Given the description of an element on the screen output the (x, y) to click on. 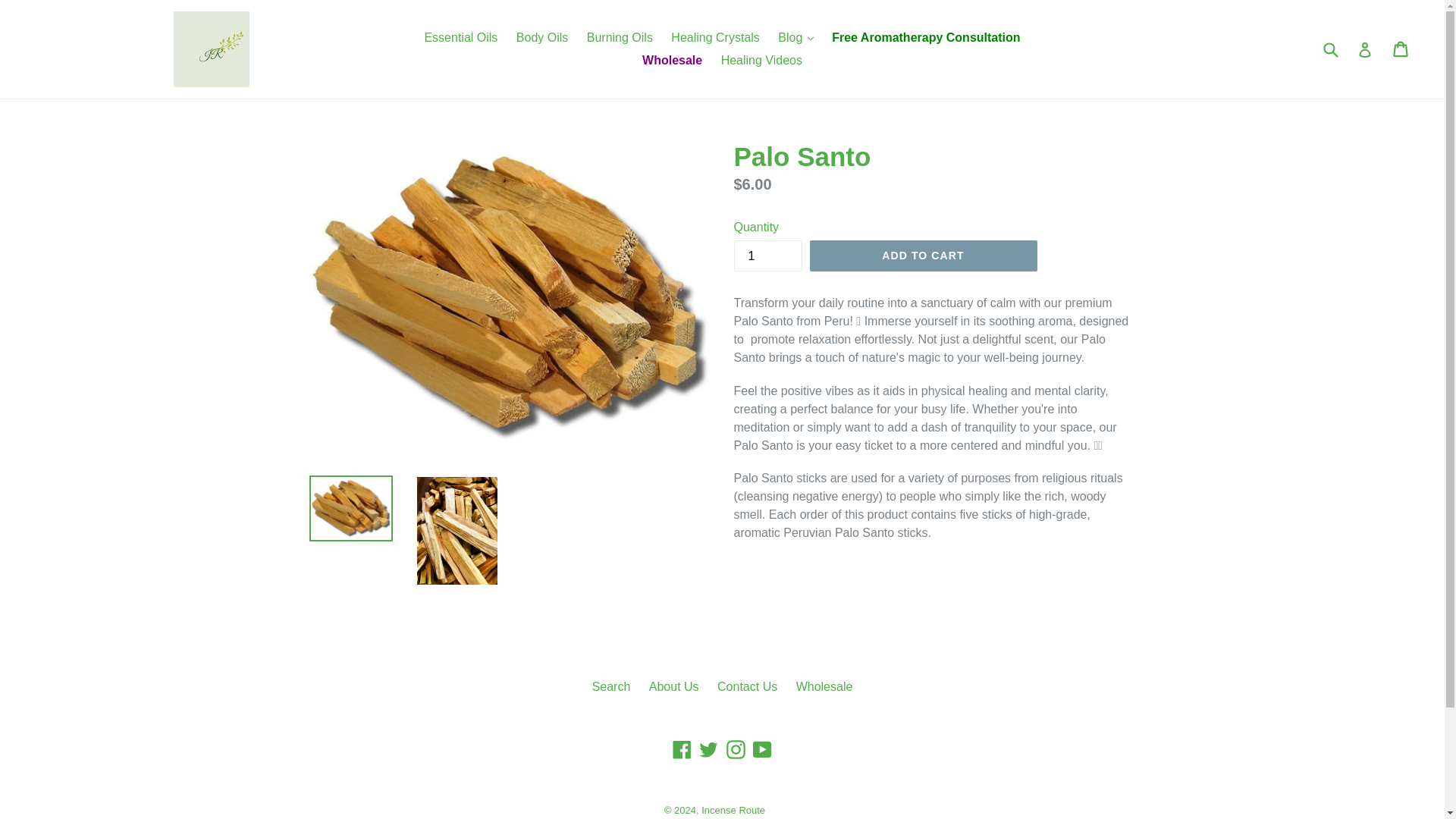
Incense Route on Instagram (735, 749)
Twitter (708, 749)
Facebook (681, 749)
Healing Crystals (715, 37)
ADD TO CART (922, 255)
Body Oils (541, 37)
Wholesale (824, 686)
Wholesale (672, 60)
Incense Route on YouTube (762, 749)
Healing Videos (761, 60)
Search (611, 686)
1 (767, 255)
Instagram (735, 749)
Contact Us (747, 686)
About Us (673, 686)
